Given the description of an element on the screen output the (x, y) to click on. 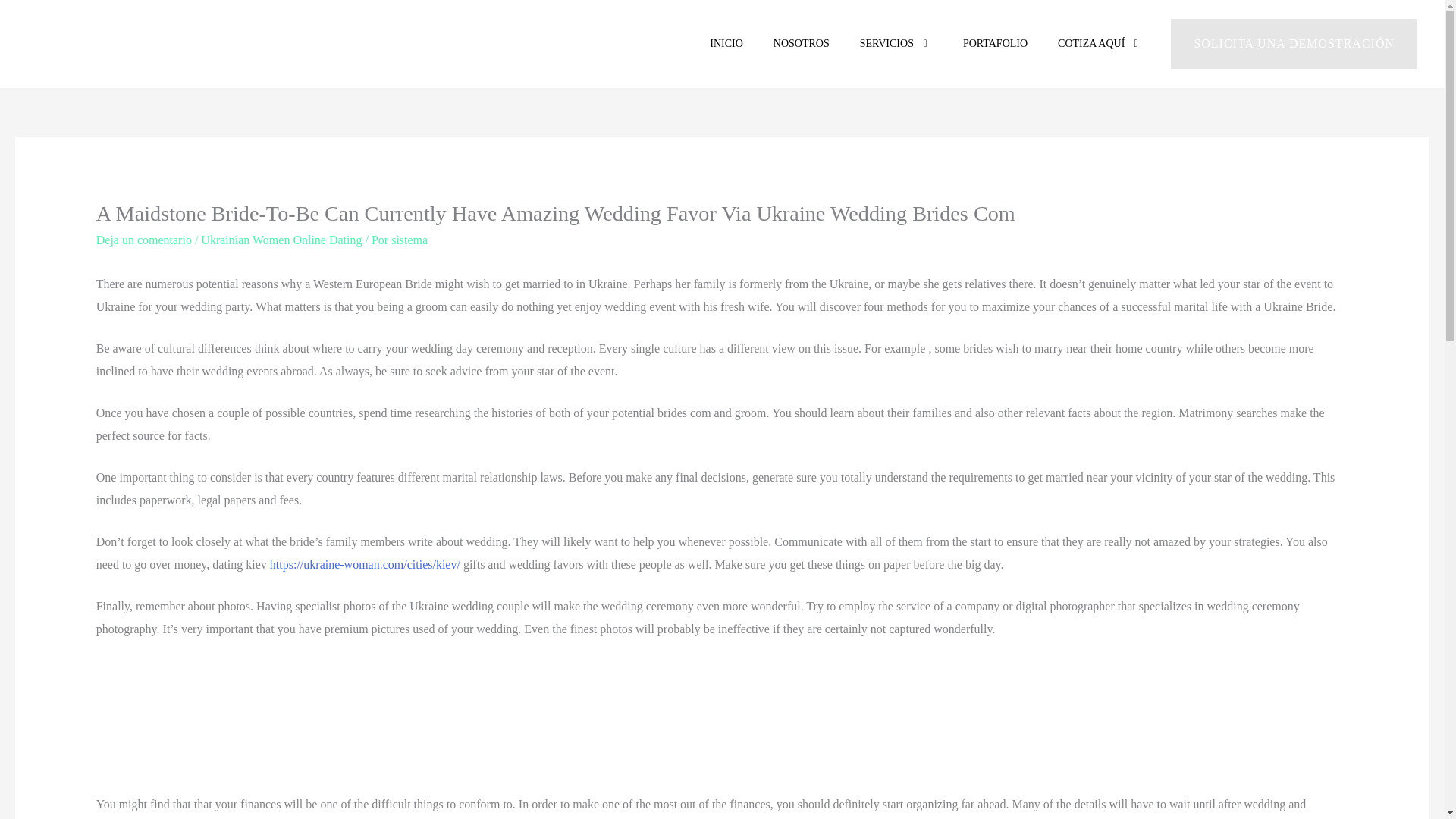
NOSOTROS (801, 44)
INICIO (726, 44)
PORTAFOLIO (994, 44)
Ver todas las entradas de sistema (409, 239)
sistema (409, 239)
Ukrainian Women Online Dating (280, 239)
Deja un comentario (144, 239)
